Given the description of an element on the screen output the (x, y) to click on. 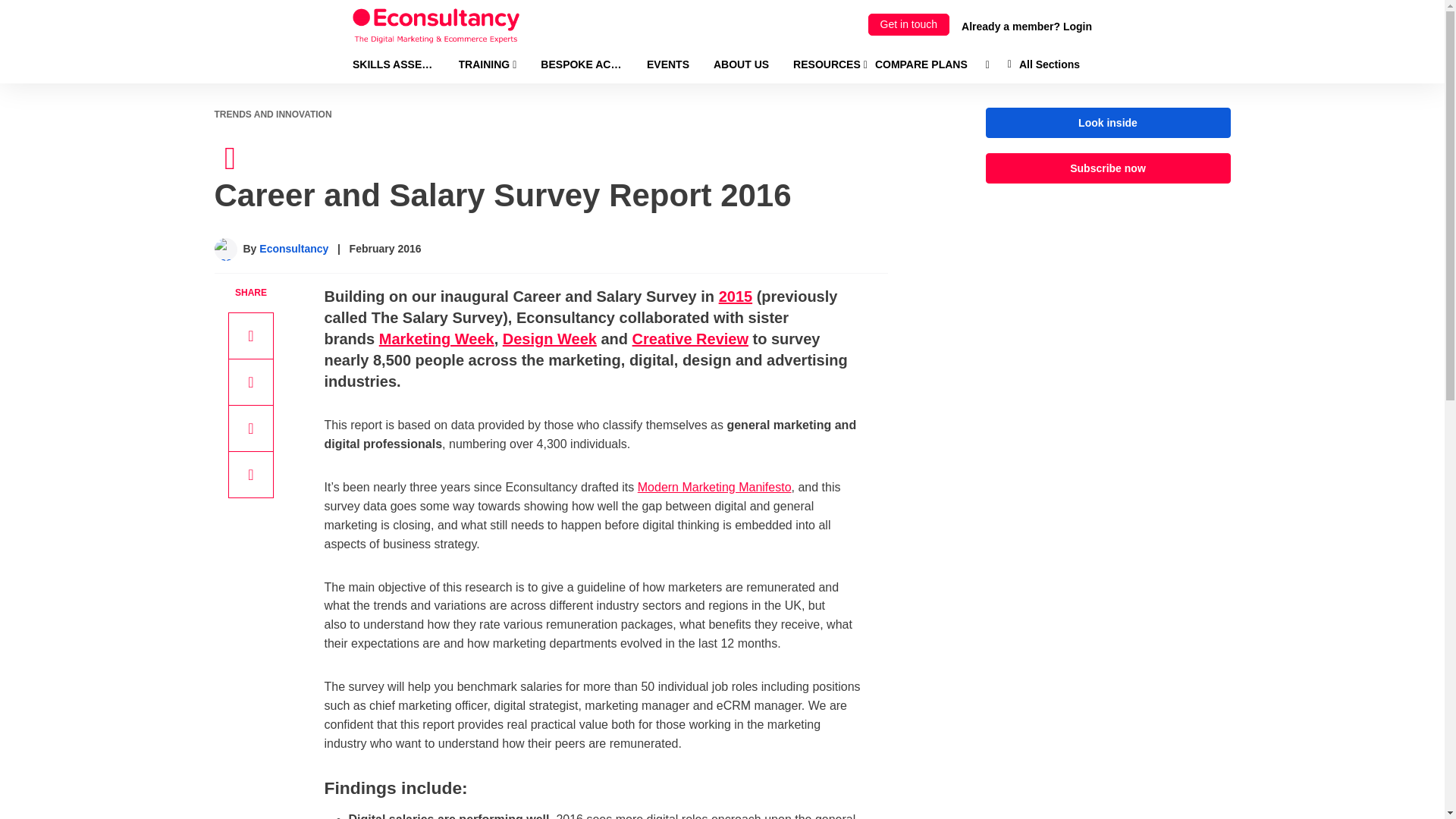
ABOUT US (740, 64)
Get in touch (908, 24)
TRAINING (487, 64)
COMPARE PLANS (921, 64)
Already a member? Login (1026, 26)
Posts by Econsultancy (294, 248)
RESOURCES (830, 64)
SKILLS ASSESSMENT (392, 64)
BESPOKE ACADEMIES (581, 64)
EVENTS (667, 64)
All Sections (1043, 64)
